Given the description of an element on the screen output the (x, y) to click on. 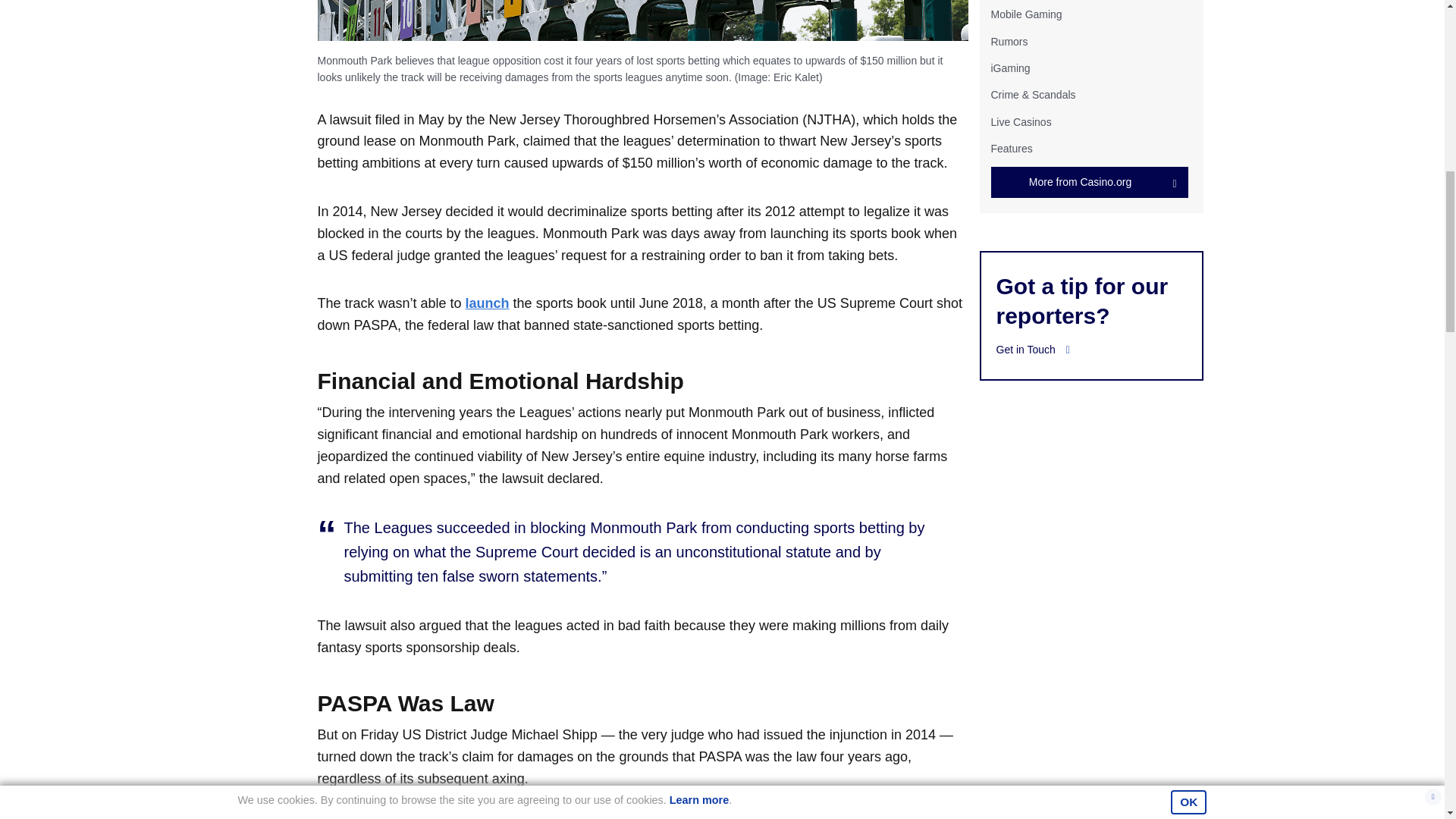
Features (1011, 148)
Live Casinos (1020, 121)
launch (487, 303)
Mobile Gaming (1025, 14)
Rumors (1008, 41)
iGaming (1009, 68)
